Given the description of an element on the screen output the (x, y) to click on. 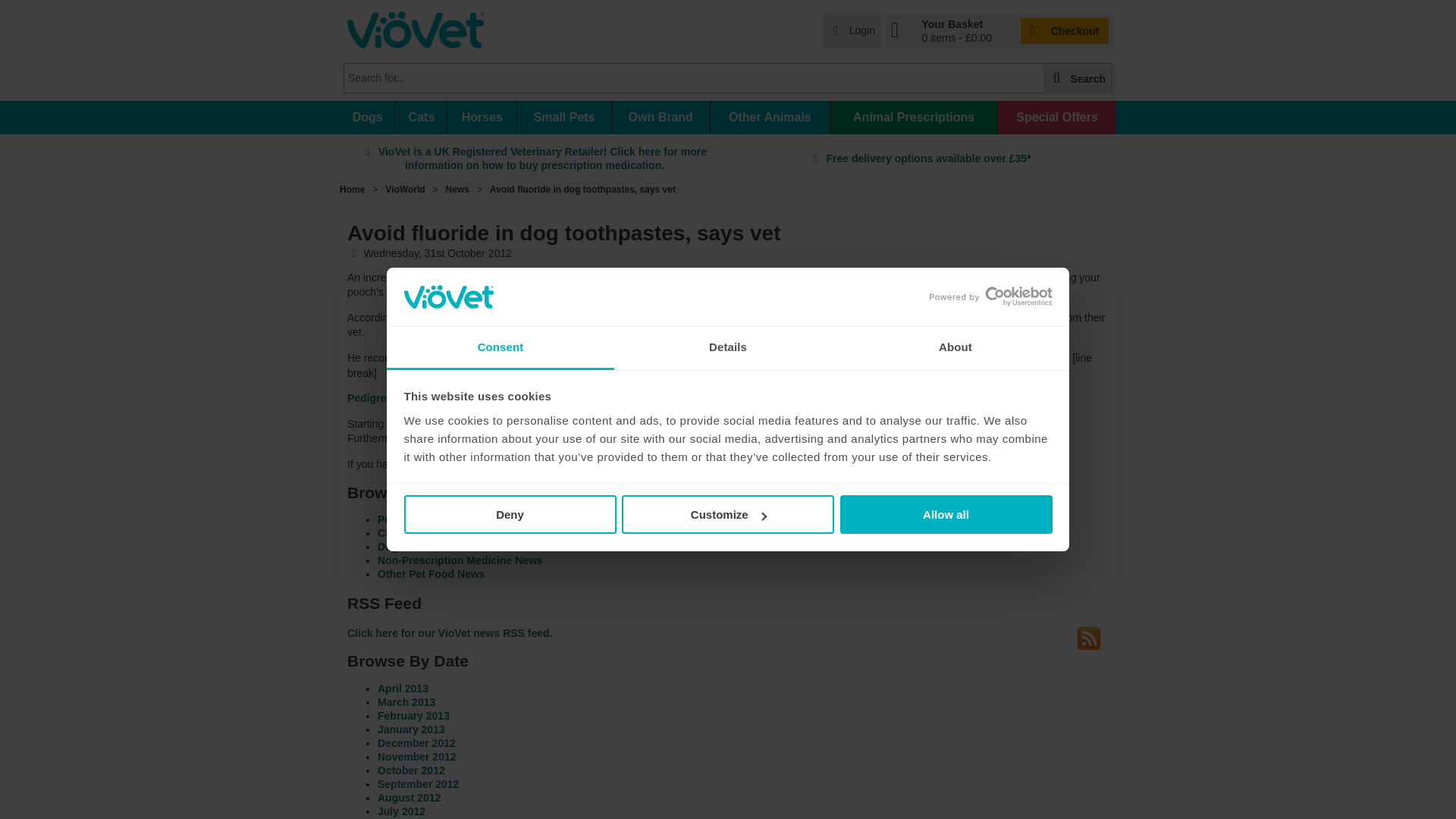
Consent (500, 348)
About (954, 348)
Details (727, 348)
